Given the description of an element on the screen output the (x, y) to click on. 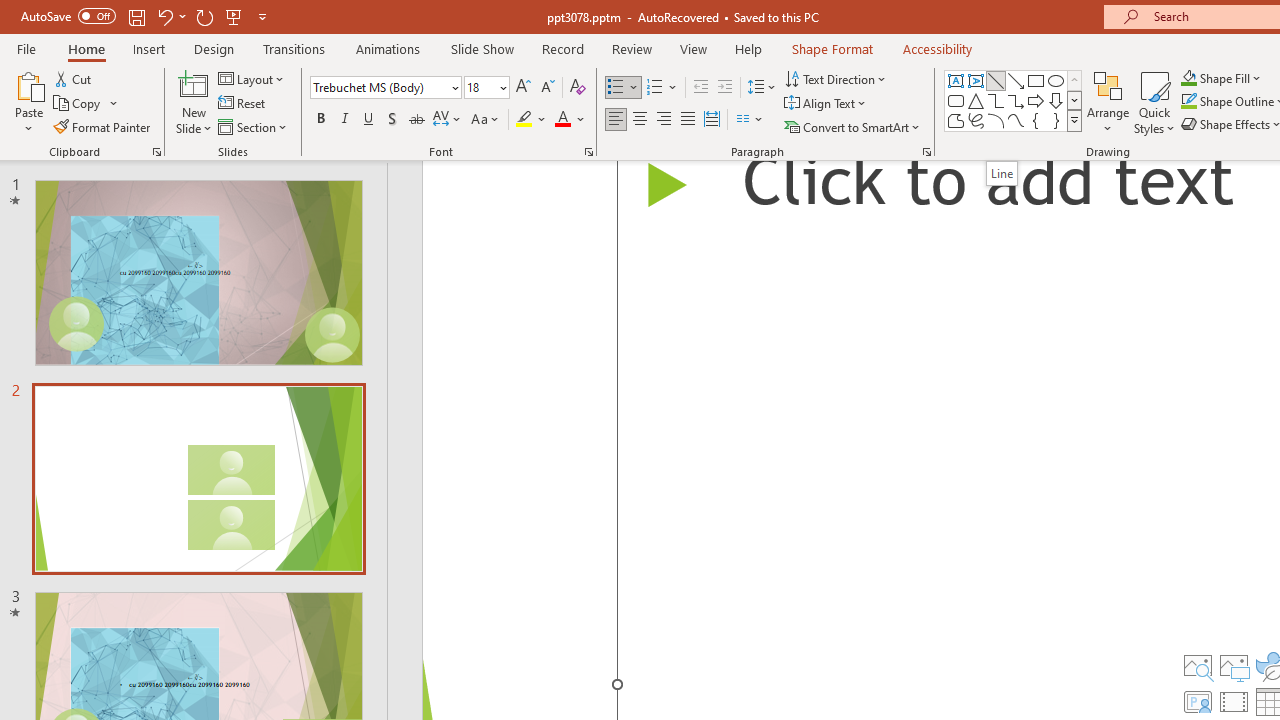
Underline (369, 119)
Accessibility (937, 48)
Text Highlight Color (531, 119)
Shape Fill (1221, 78)
Reset (243, 103)
Shape Fill Dark Green, Accent 2 (1188, 78)
Class: NetUIImage (1075, 120)
Font (385, 87)
Increase Font Size (522, 87)
Line (995, 80)
Open (502, 87)
Section (254, 126)
